Given the description of an element on the screen output the (x, y) to click on. 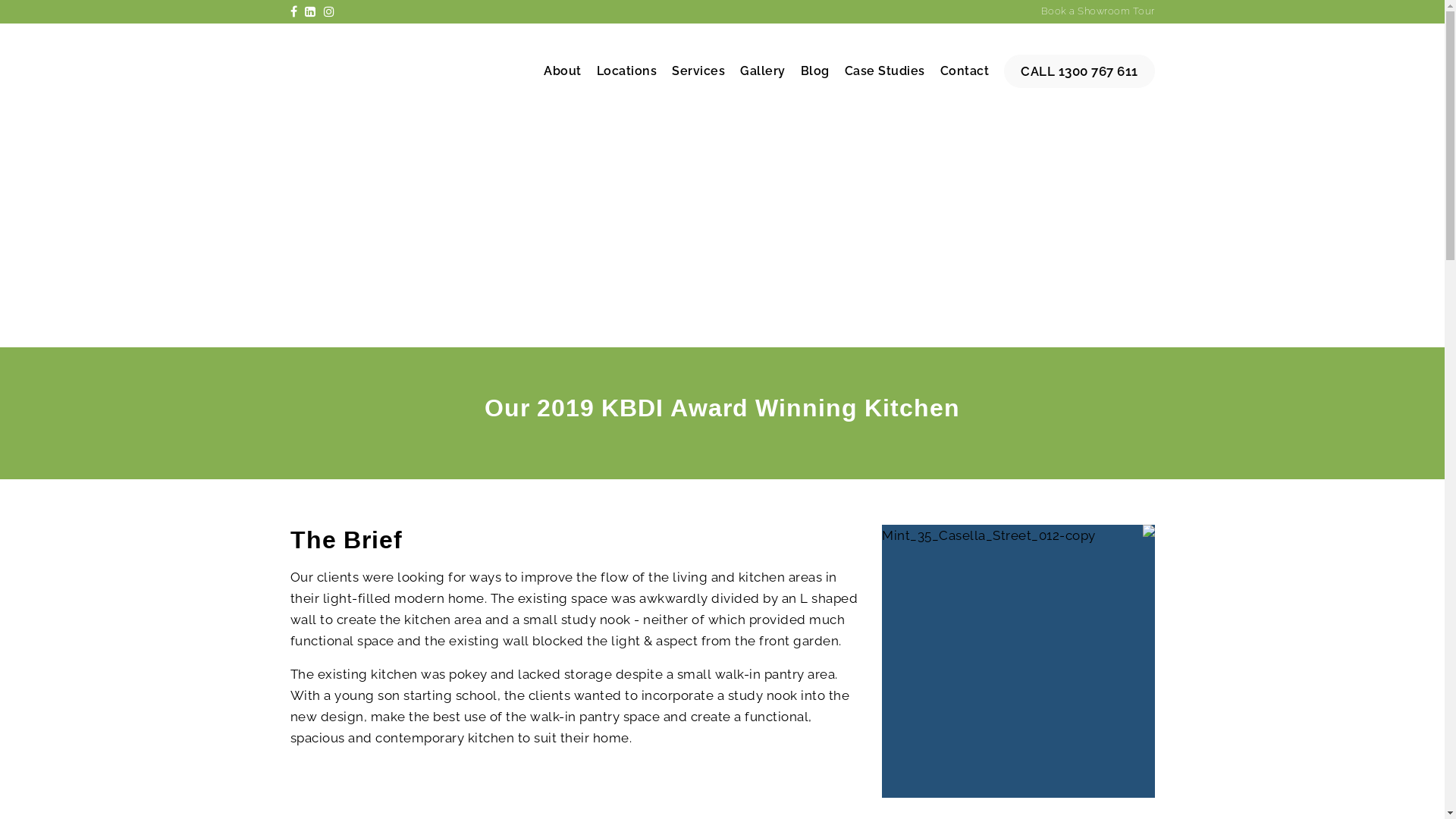
CALL 1300 767 611 Element type: text (1079, 70)
Book a Showroom Tour Element type: text (1097, 10)
About Element type: text (562, 70)
Case Studies Element type: text (884, 70)
Contact Element type: text (964, 70)
Blog Element type: text (814, 70)
Gallery Element type: text (762, 70)
Services Element type: text (697, 70)
Locations Element type: text (626, 70)
